Given the description of an element on the screen output the (x, y) to click on. 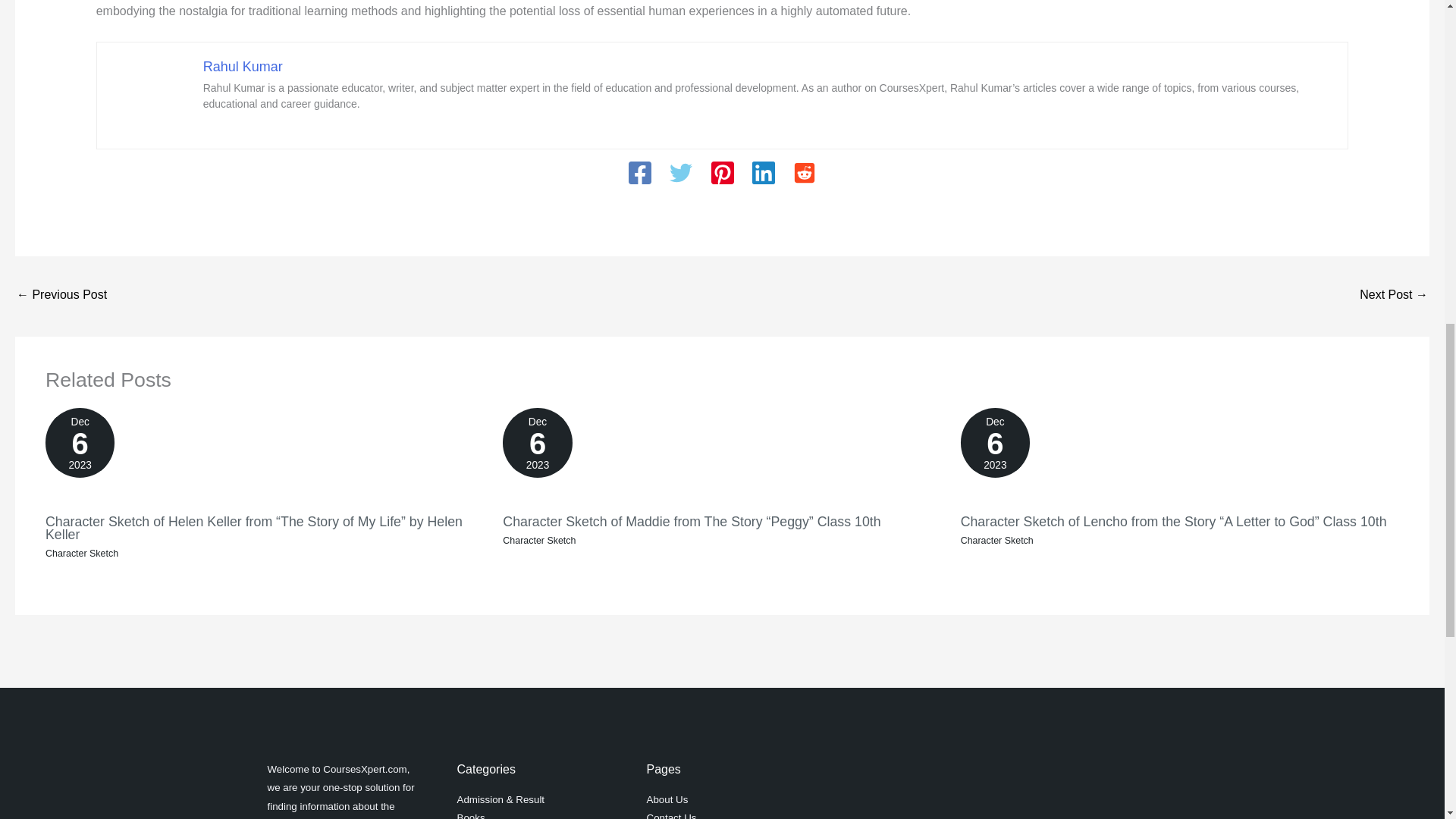
Character sketch of Mijbil the Otter (1393, 295)
Rahul Kumar (242, 66)
Character Sketch of Gerrard from If I Were You (61, 295)
